Given the description of an element on the screen output the (x, y) to click on. 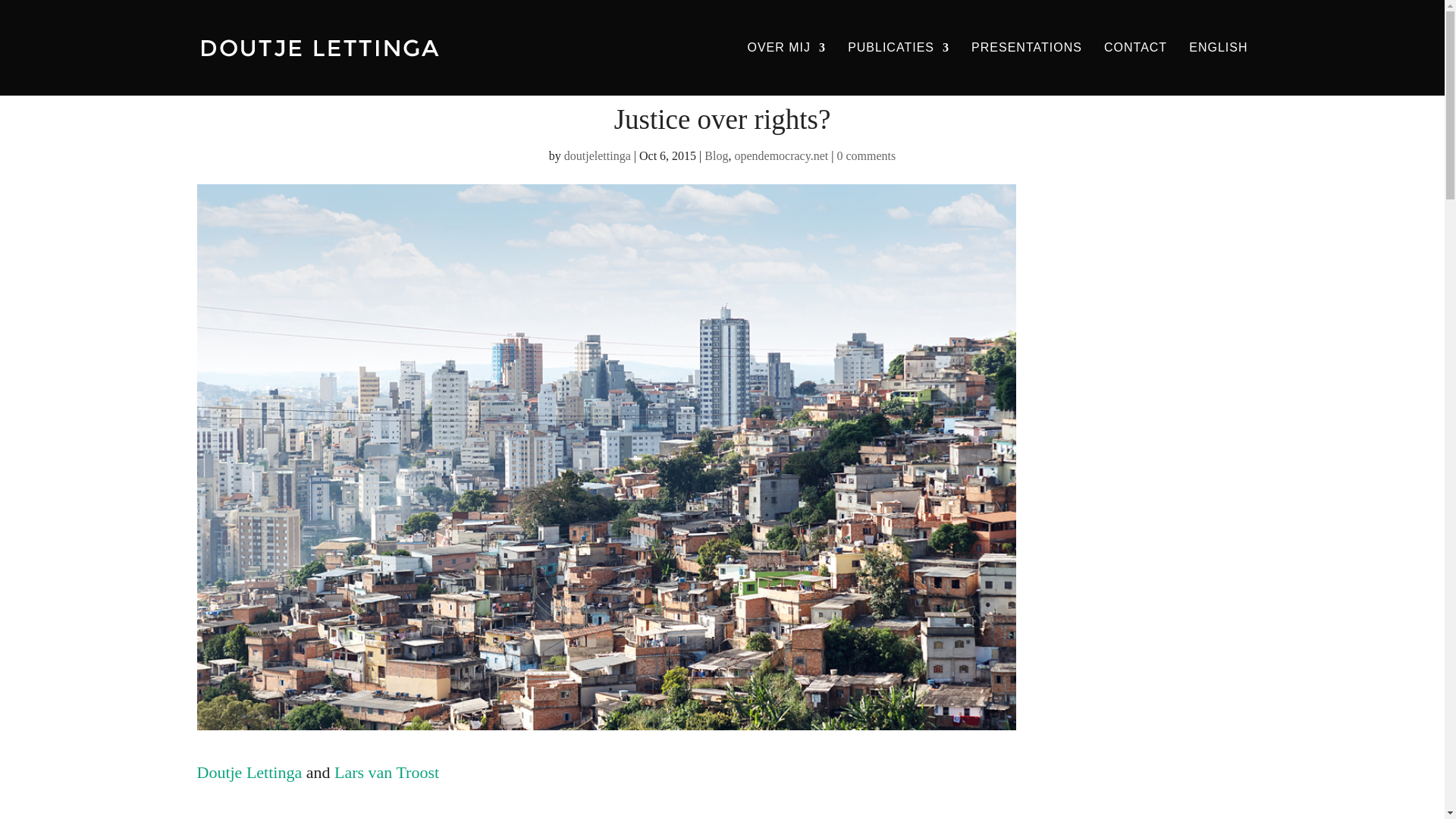
PUBLICATIES (898, 68)
Doutje Lettinga (249, 772)
Lars van Troost (386, 772)
0 comments (865, 155)
CONTACT (1135, 68)
PRESENTATIONS (1026, 68)
Blog (716, 155)
opendemocracy.net (780, 155)
doutjelettinga (597, 155)
Posts by doutjelettinga (597, 155)
